Given the description of an element on the screen output the (x, y) to click on. 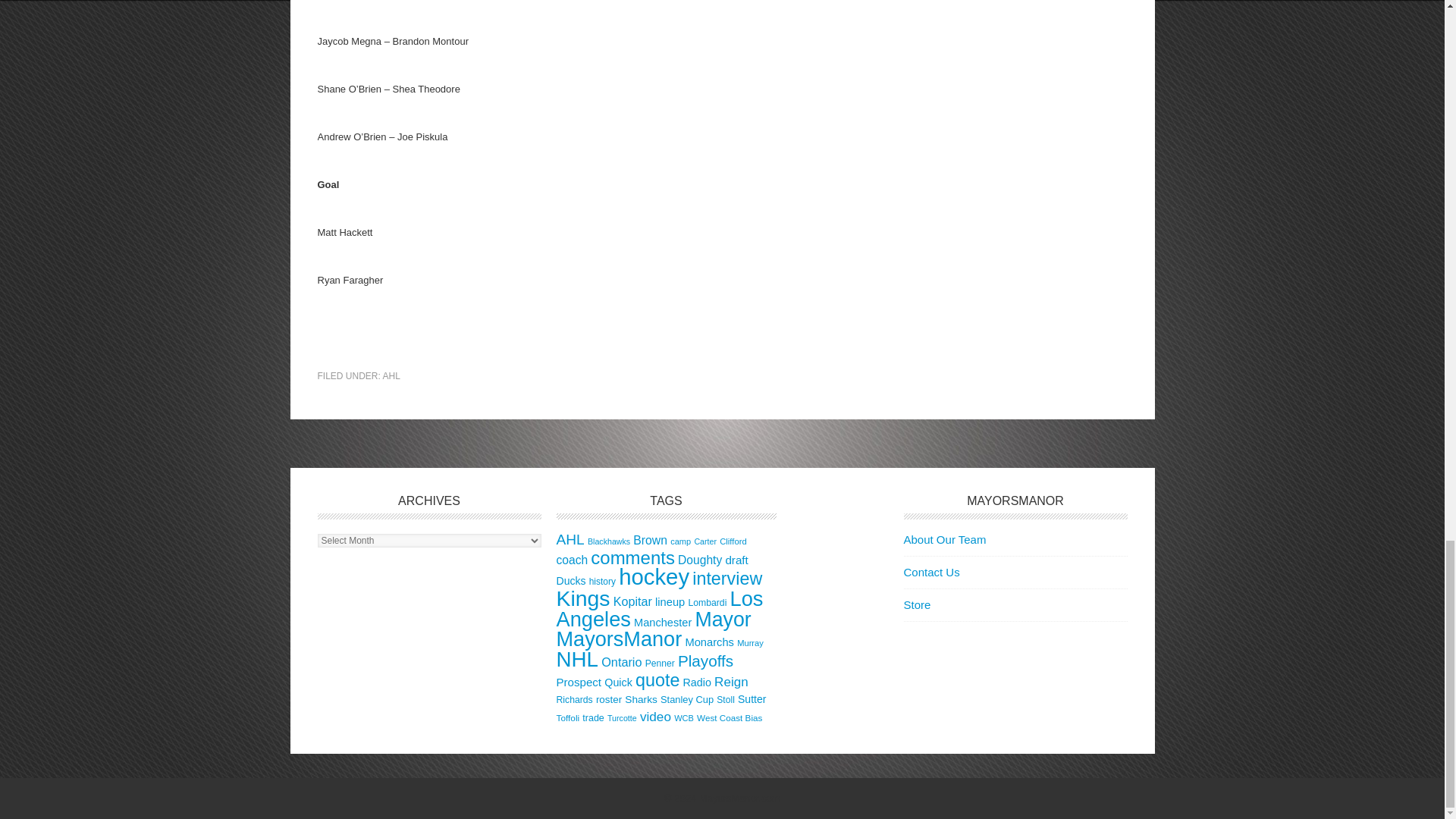
AHL (391, 376)
